Given the description of an element on the screen output the (x, y) to click on. 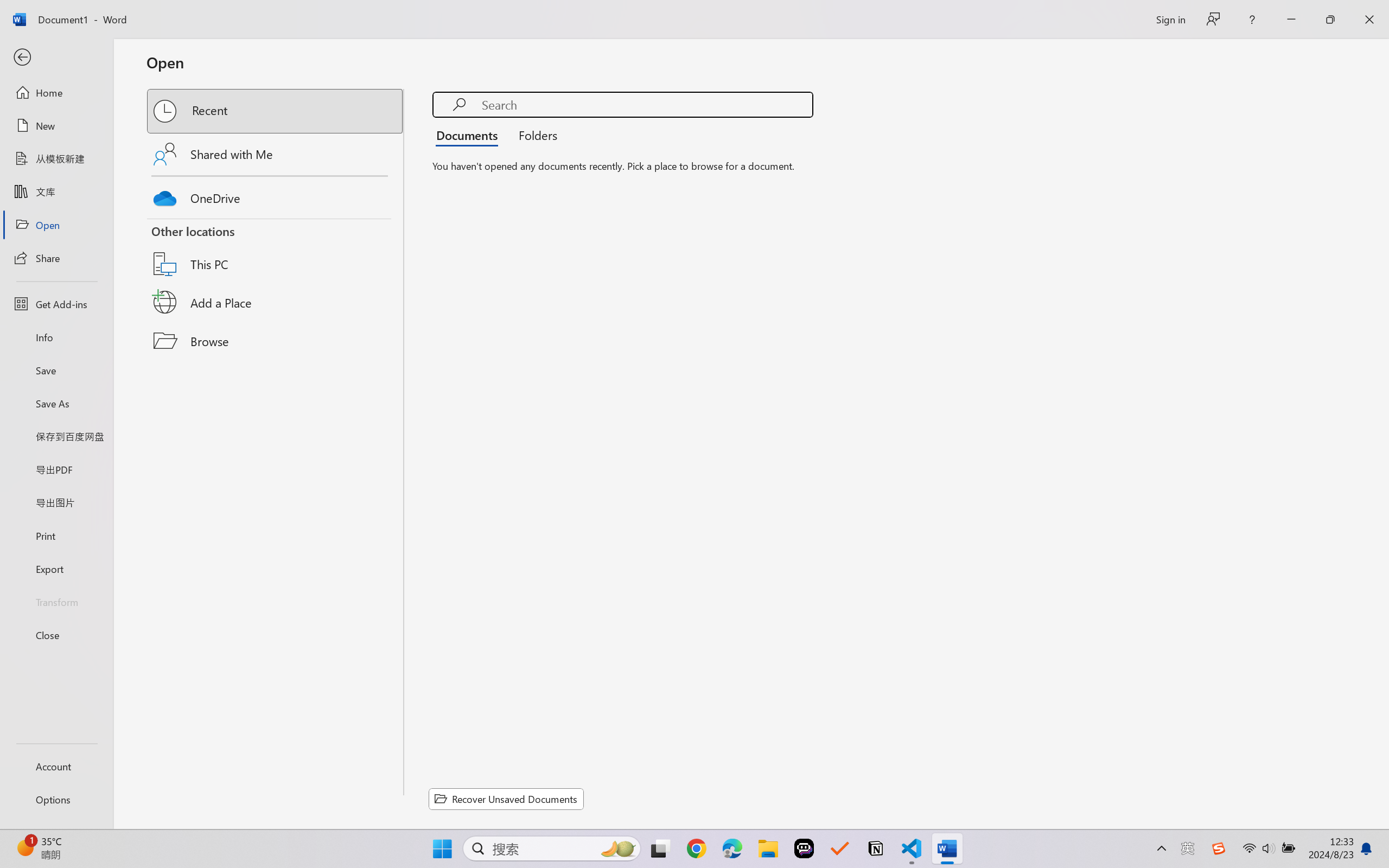
OneDrive (275, 195)
Account (56, 765)
Get Add-ins (56, 303)
Options (56, 798)
Add a Place (275, 302)
Documents (469, 134)
